Given the description of an element on the screen output the (x, y) to click on. 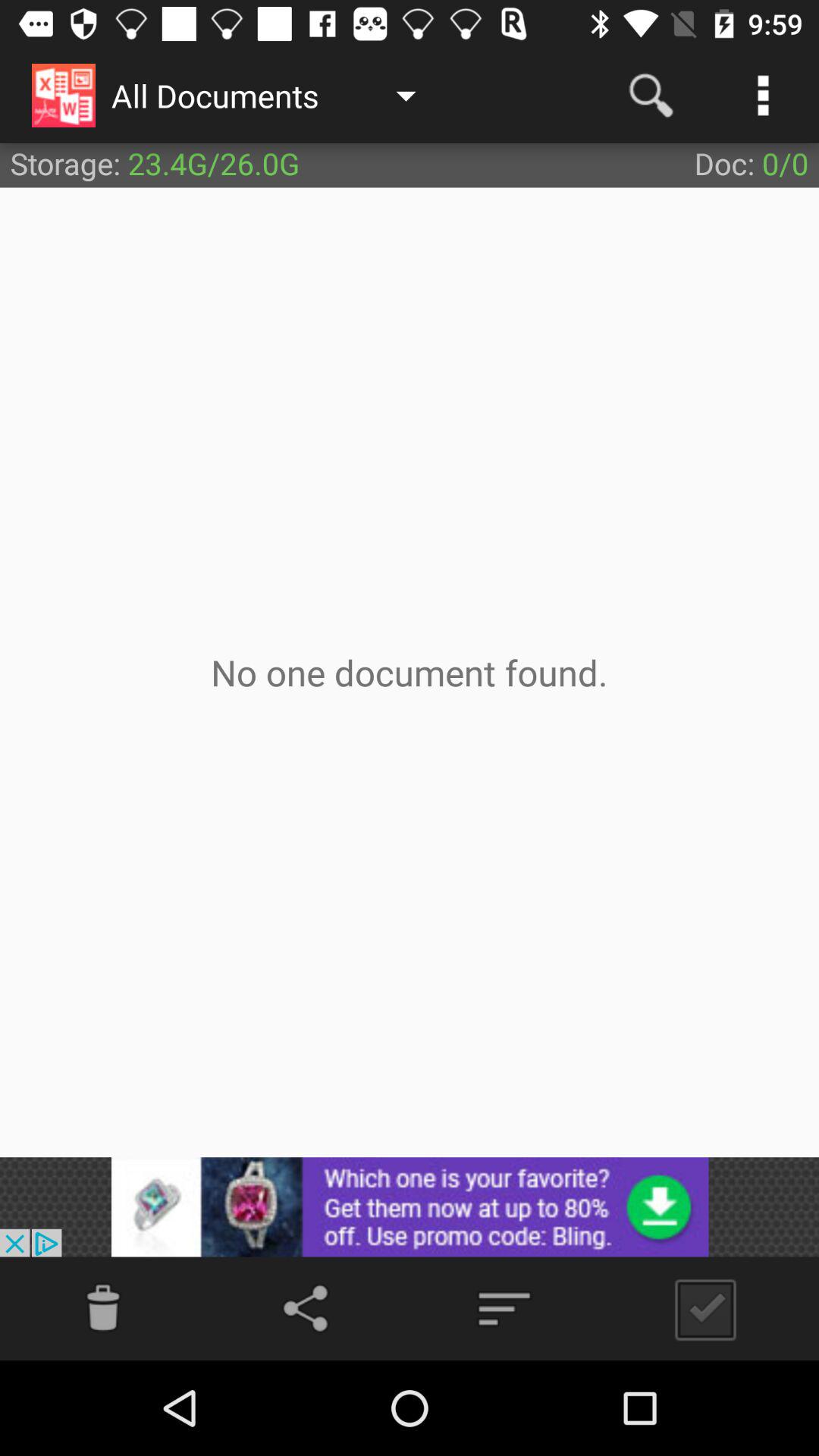
advert pop up (409, 1206)
